Given the description of an element on the screen output the (x, y) to click on. 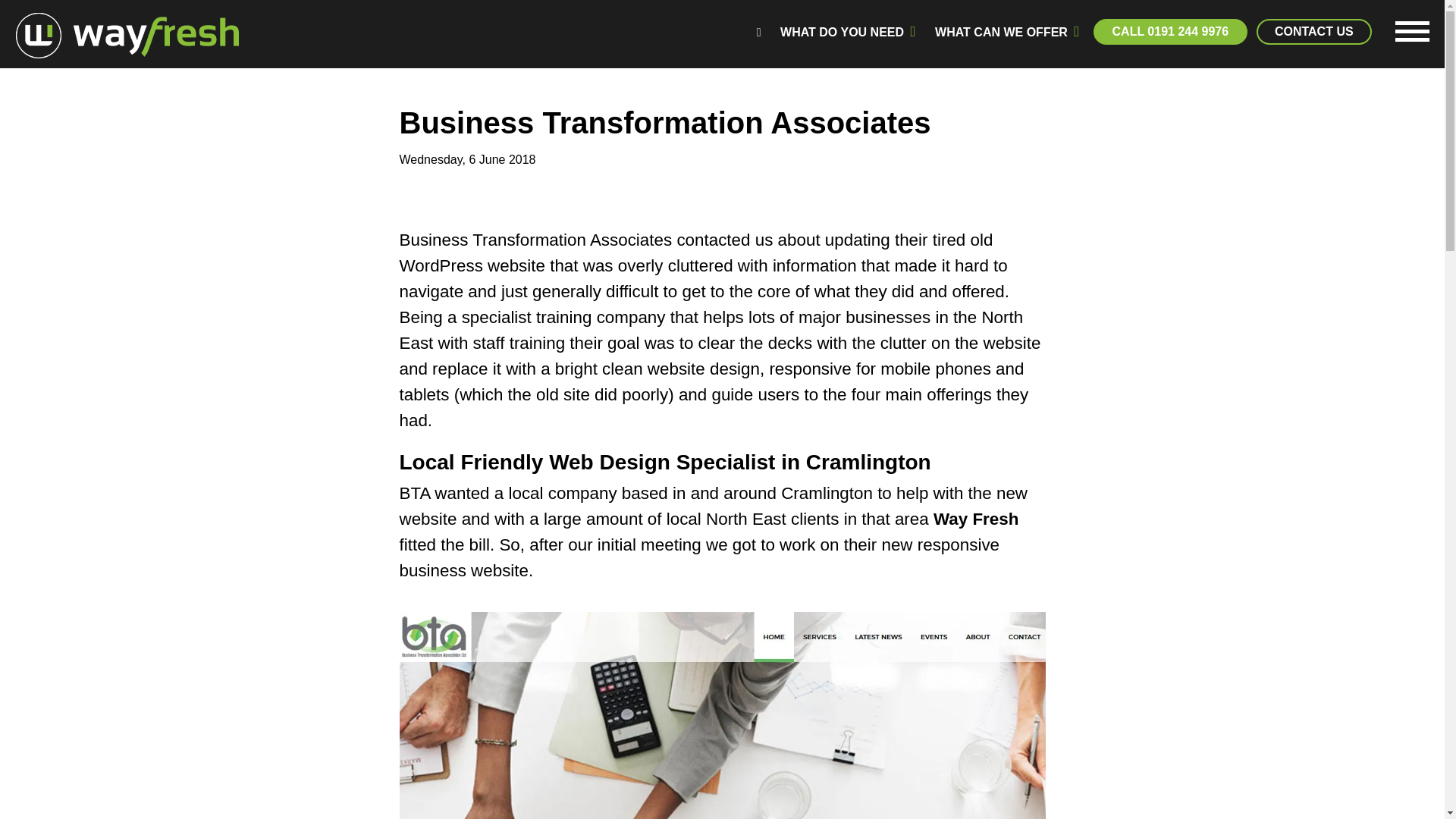
WHAT CAN WE OFFER (1006, 33)
WHAT DO YOU NEED (847, 33)
CALL 0191 244 9976 (1169, 31)
CONTACT US (1313, 31)
